Given the description of an element on the screen output the (x, y) to click on. 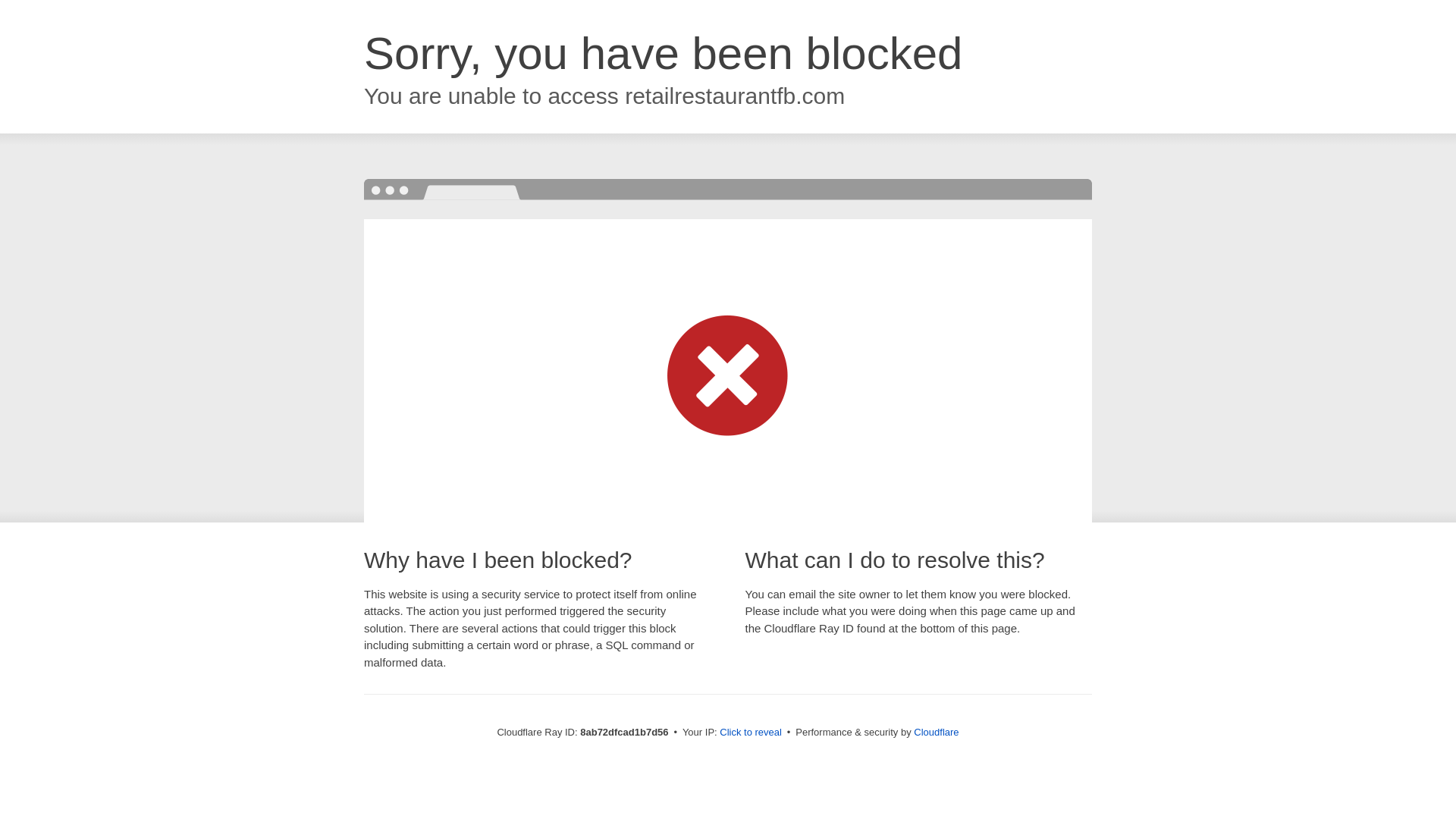
Cloudflare (936, 731)
Click to reveal (750, 732)
